Given the description of an element on the screen output the (x, y) to click on. 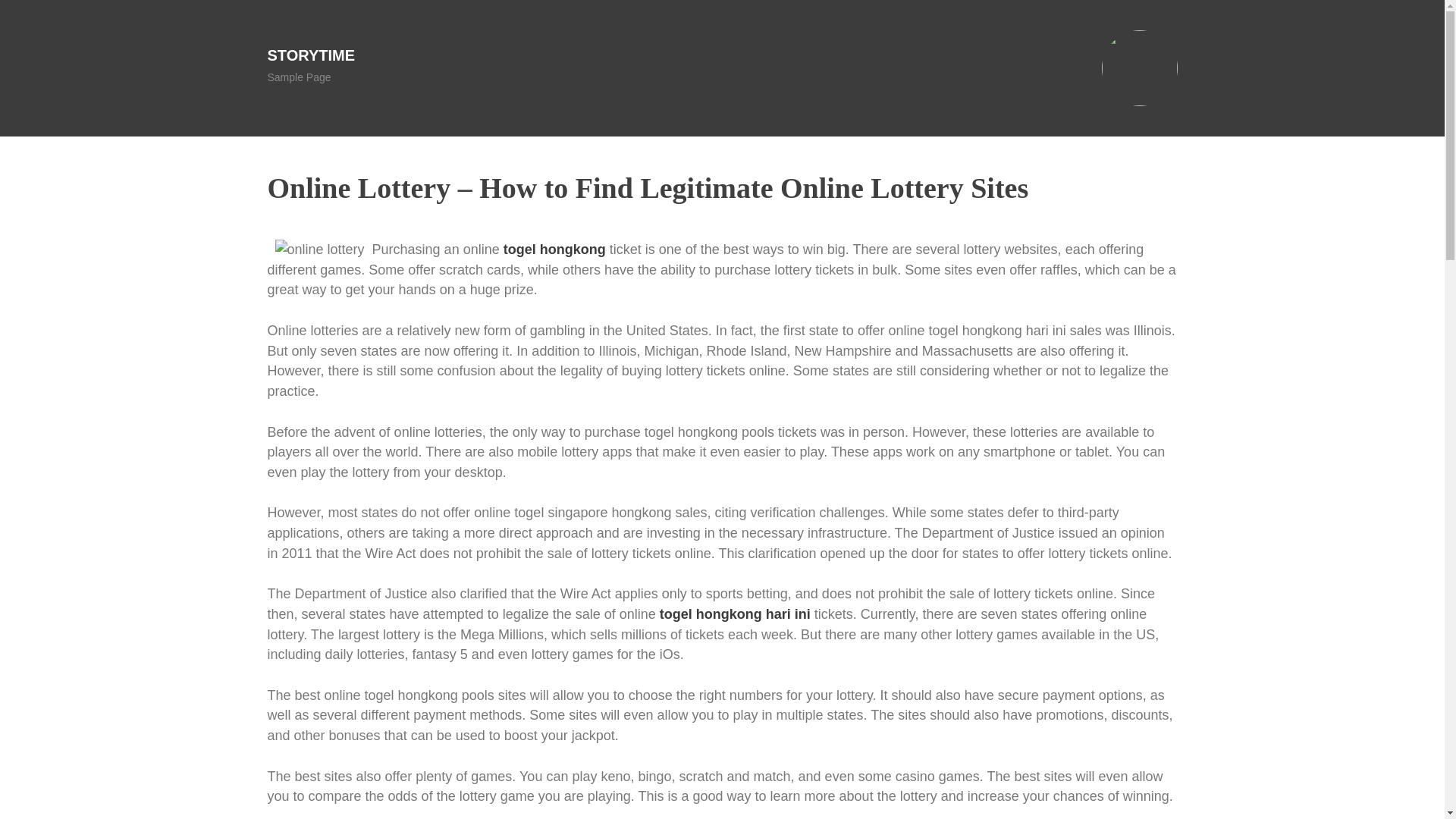
togel hongkong hari ini (734, 613)
STORYTIME (310, 54)
storytime (310, 54)
Sample Page (298, 77)
togel hongkong (554, 249)
